Given the description of an element on the screen output the (x, y) to click on. 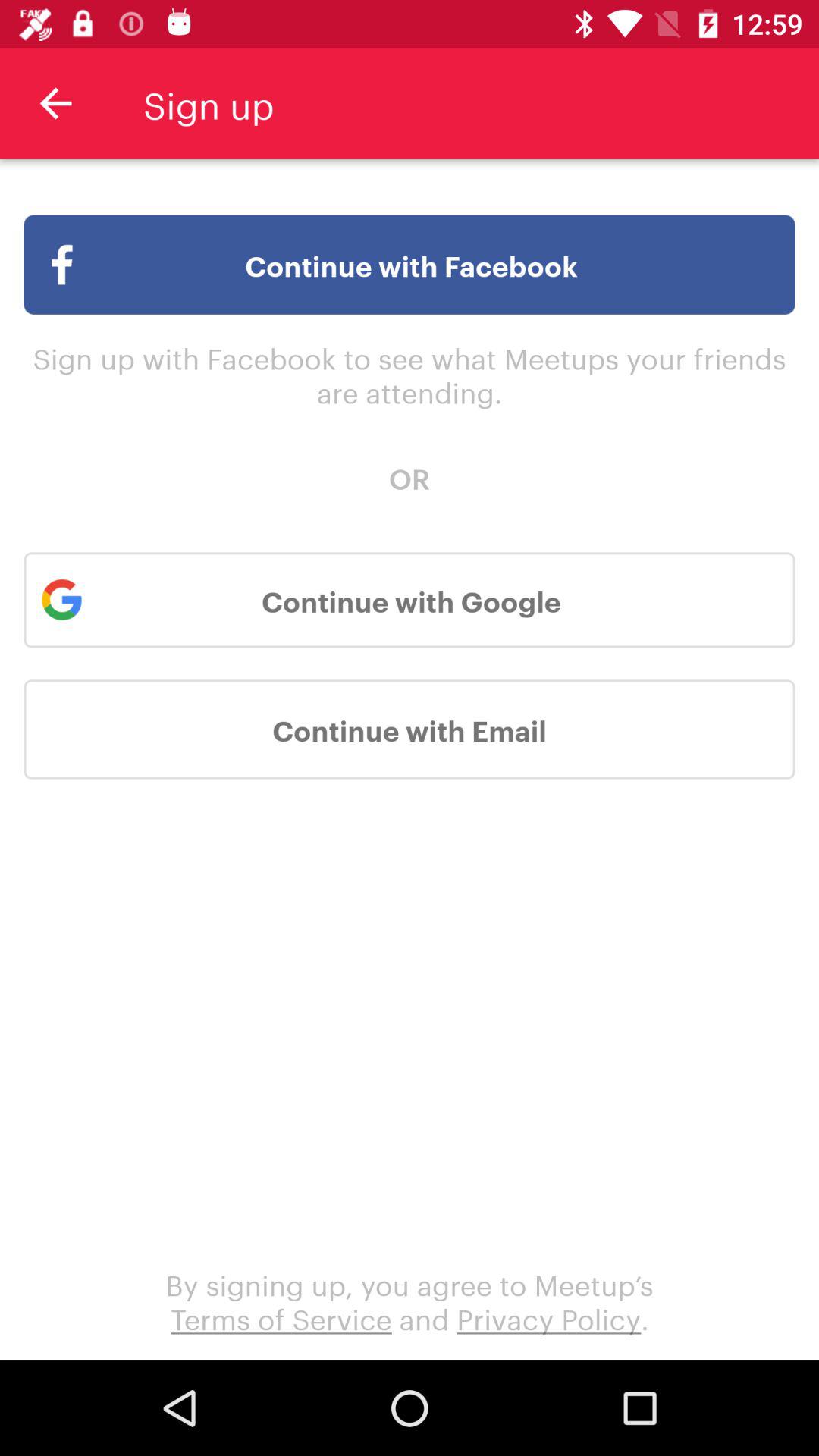
choose by signing up (409, 1300)
